Given the description of an element on the screen output the (x, y) to click on. 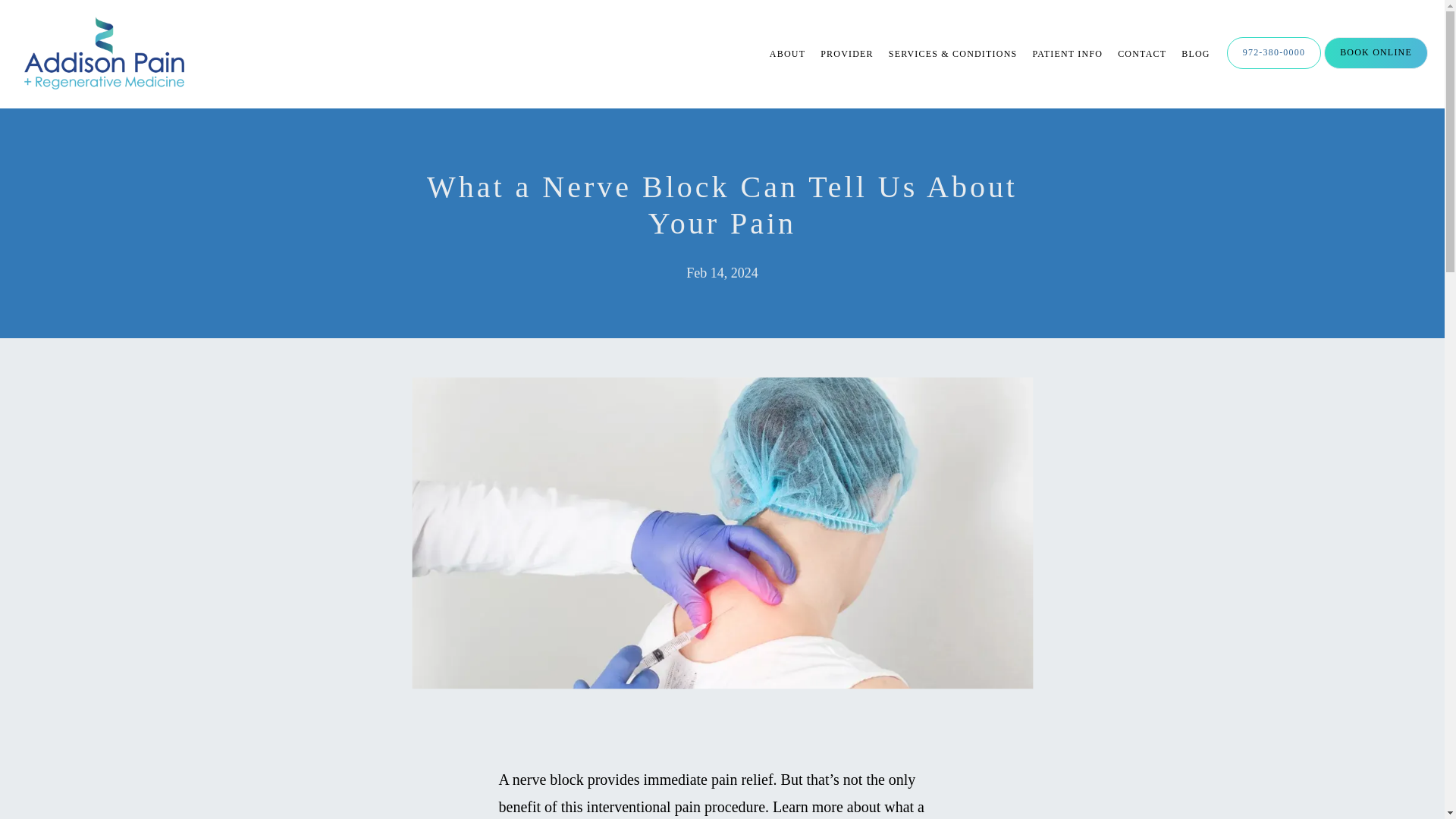
BLOG (1194, 53)
CONTACT (1142, 53)
ABOUT (787, 53)
PROVIDER (847, 53)
972-380-0000 (1273, 67)
BOOK ONLINE (1375, 67)
